Given the description of an element on the screen output the (x, y) to click on. 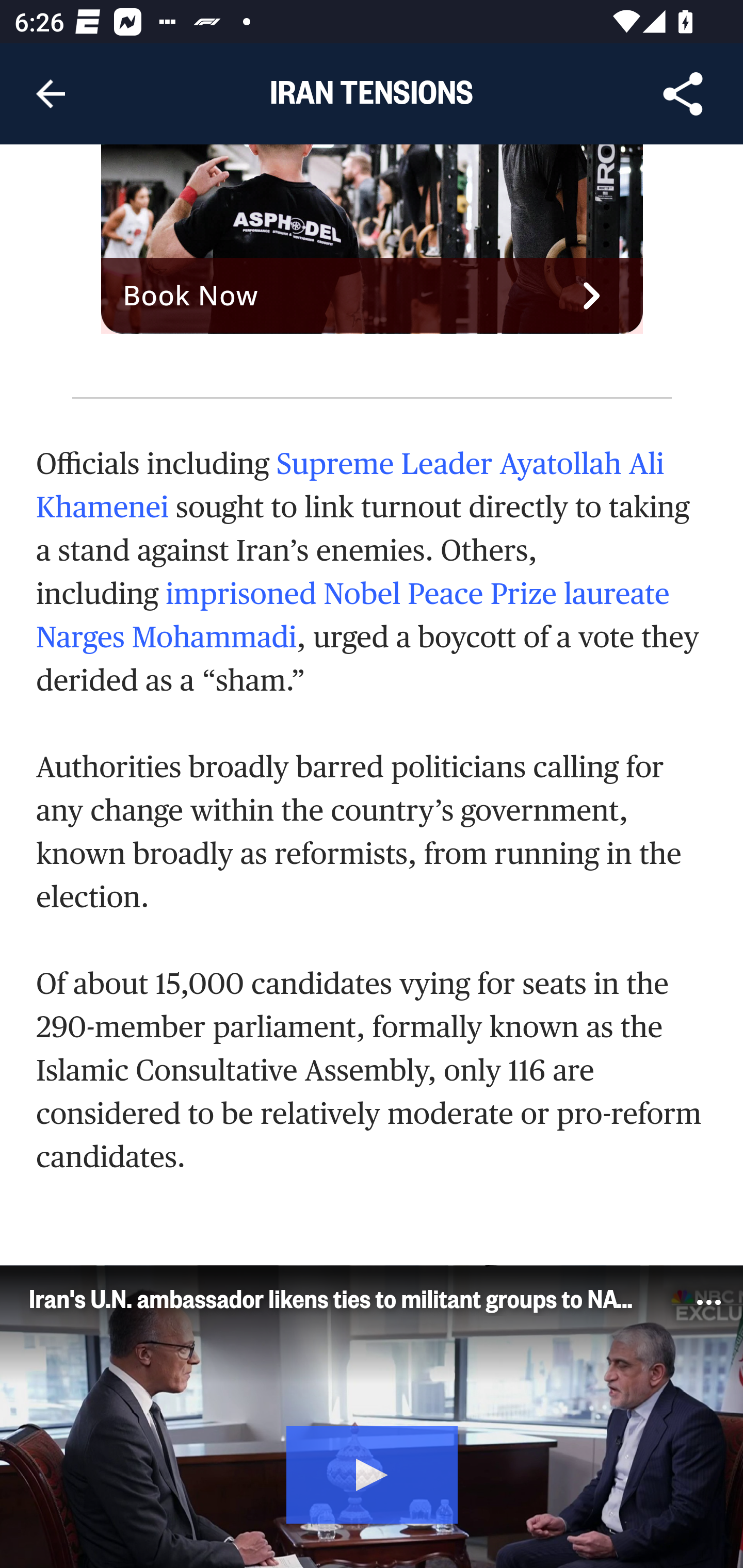
Navigate up (50, 93)
Share Article, button (683, 94)
Book Now (372, 295)
Supreme Leader Ayatollah Ali Khamenei (351, 485)
Video Player Unable to play media. Play (371, 1416)
Play (372, 1472)
